Given the description of an element on the screen output the (x, y) to click on. 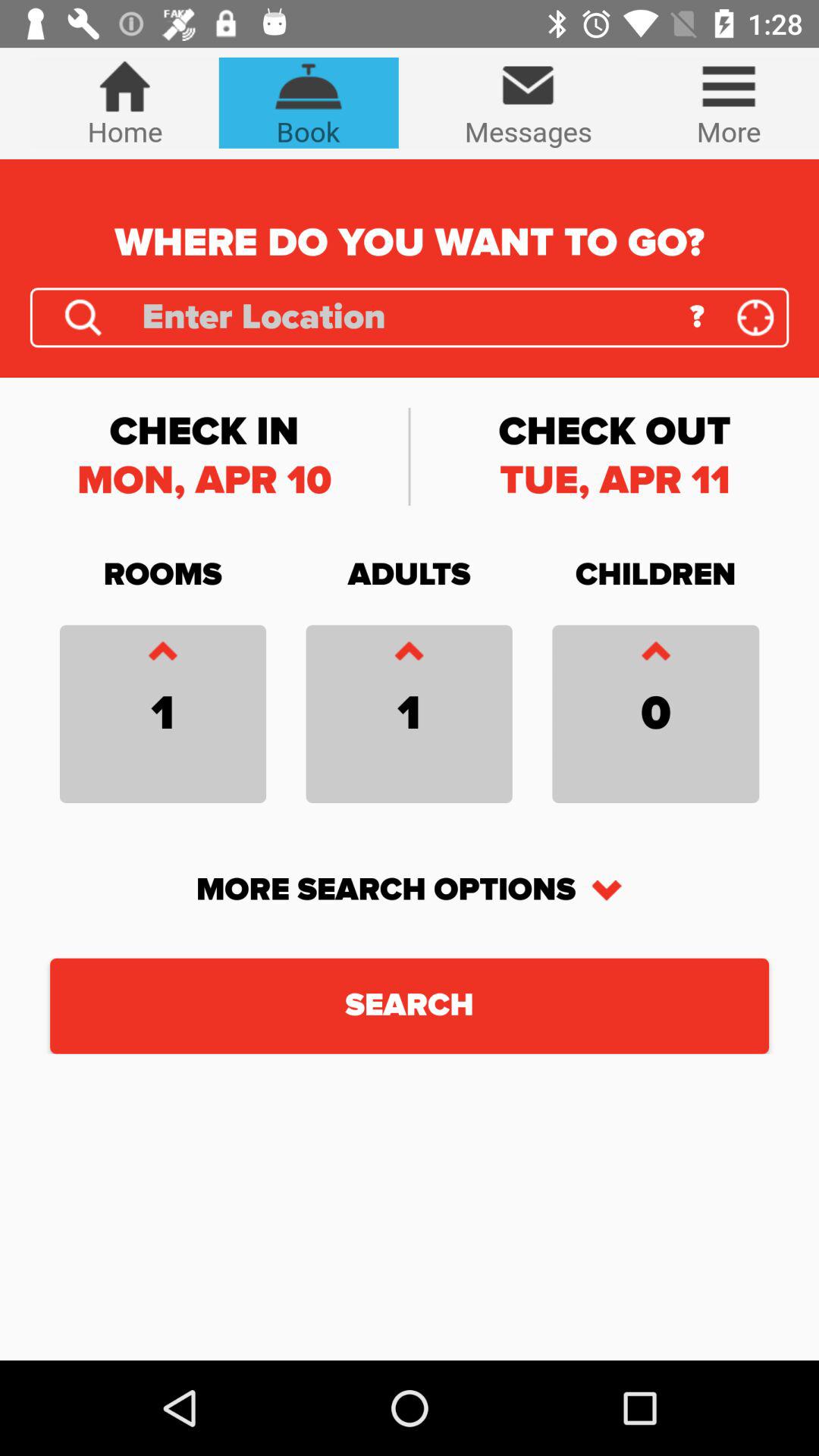
enter location you want to go (404, 317)
